Given the description of an element on the screen output the (x, y) to click on. 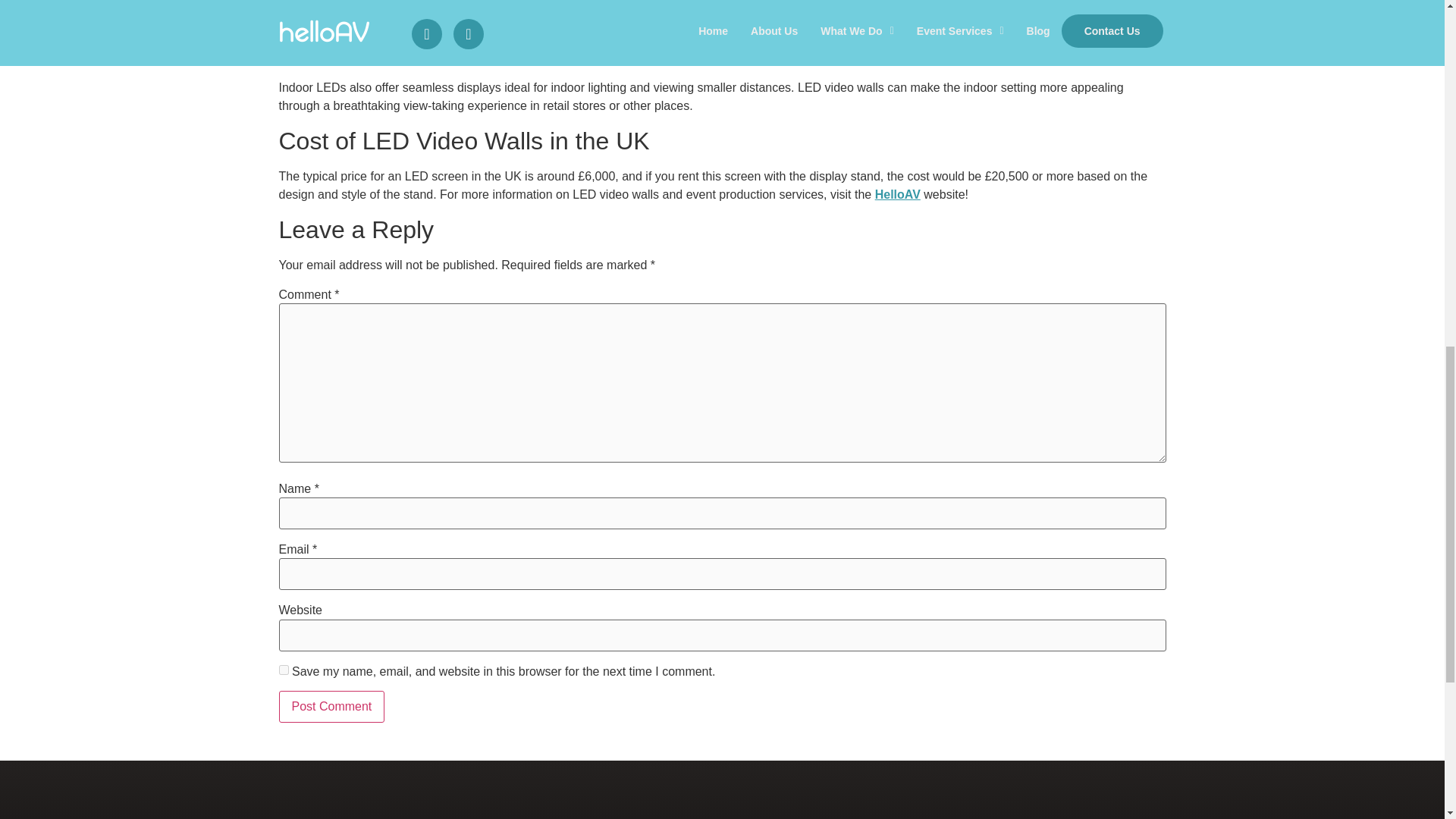
Post Comment (332, 706)
yes (283, 669)
HelloAV (897, 194)
Post Comment (332, 706)
